Given the description of an element on the screen output the (x, y) to click on. 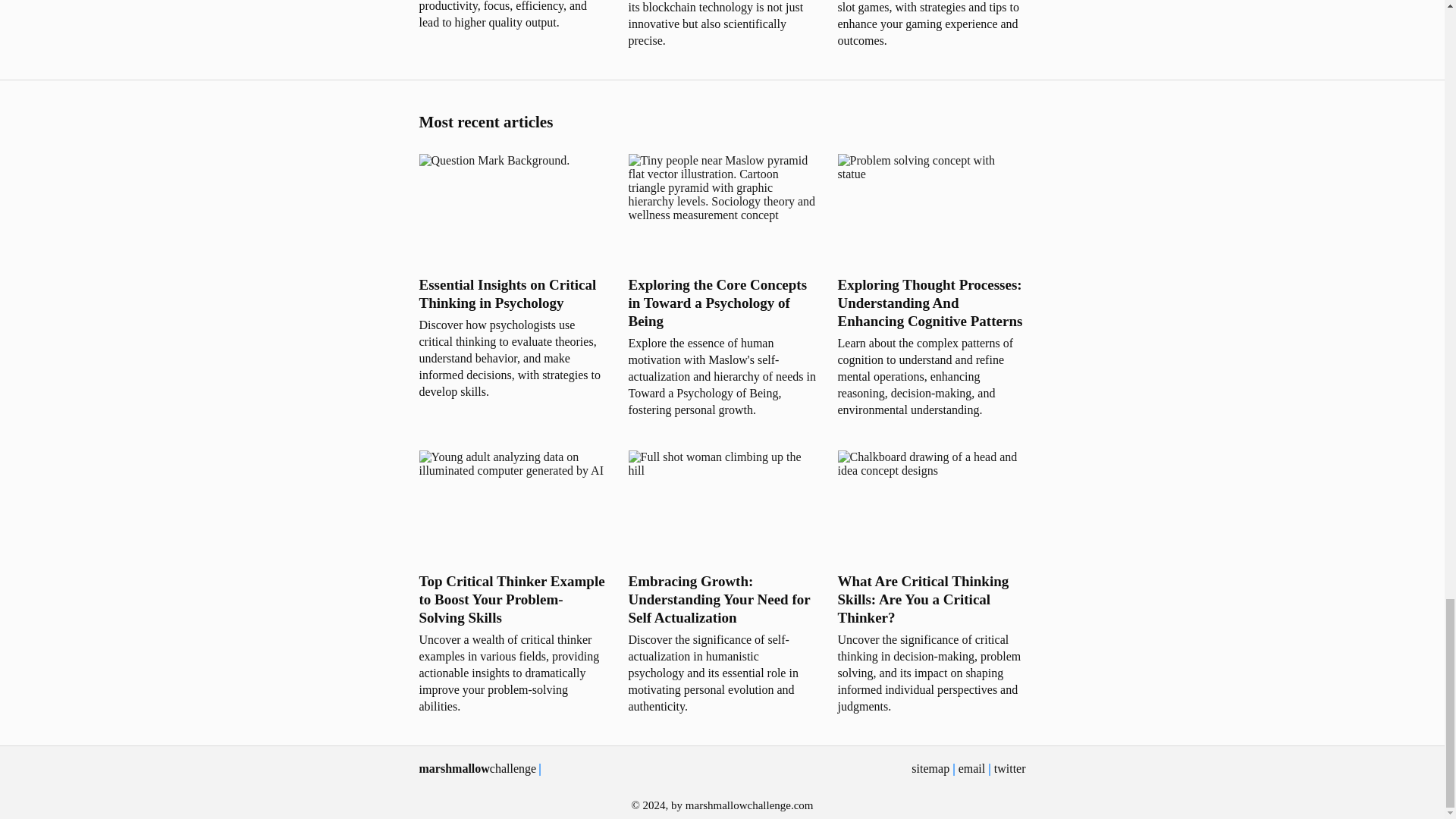
email (971, 768)
sitemap (930, 768)
twitter (1010, 768)
